Given the description of an element on the screen output the (x, y) to click on. 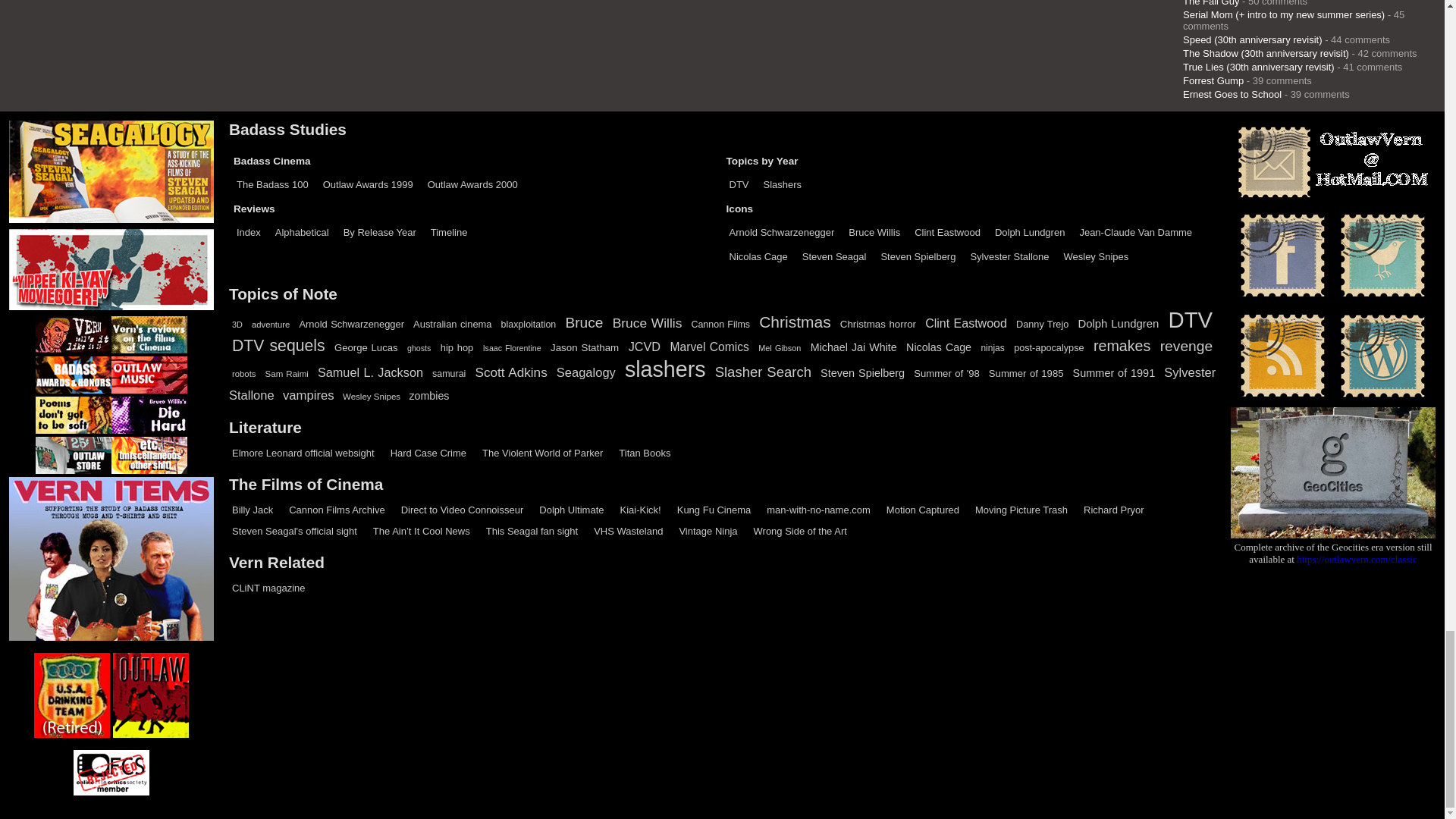
I think you know who that is (302, 452)
This guy is braver than me in his DTV viewing selections (461, 509)
